Given the description of an element on the screen output the (x, y) to click on. 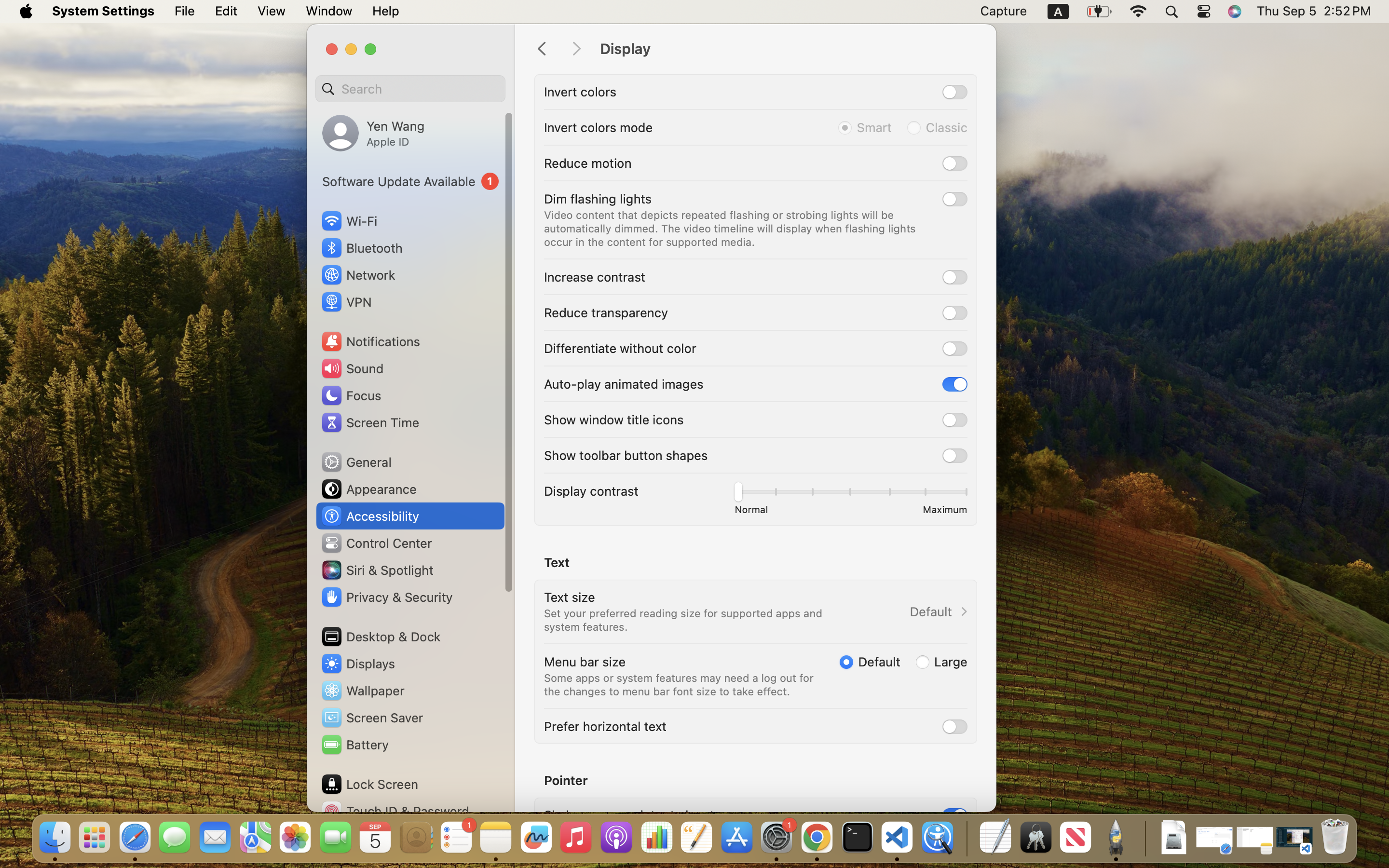
Bluetooth Element type: AXStaticText (361, 247)
Sound Element type: AXStaticText (351, 367)
Yen Wang, Apple ID Element type: AXStaticText (373, 132)
Wi‑Fi Element type: AXStaticText (348, 220)
Invert colors mode Element type: AXStaticText (598, 127)
